Given the description of an element on the screen output the (x, y) to click on. 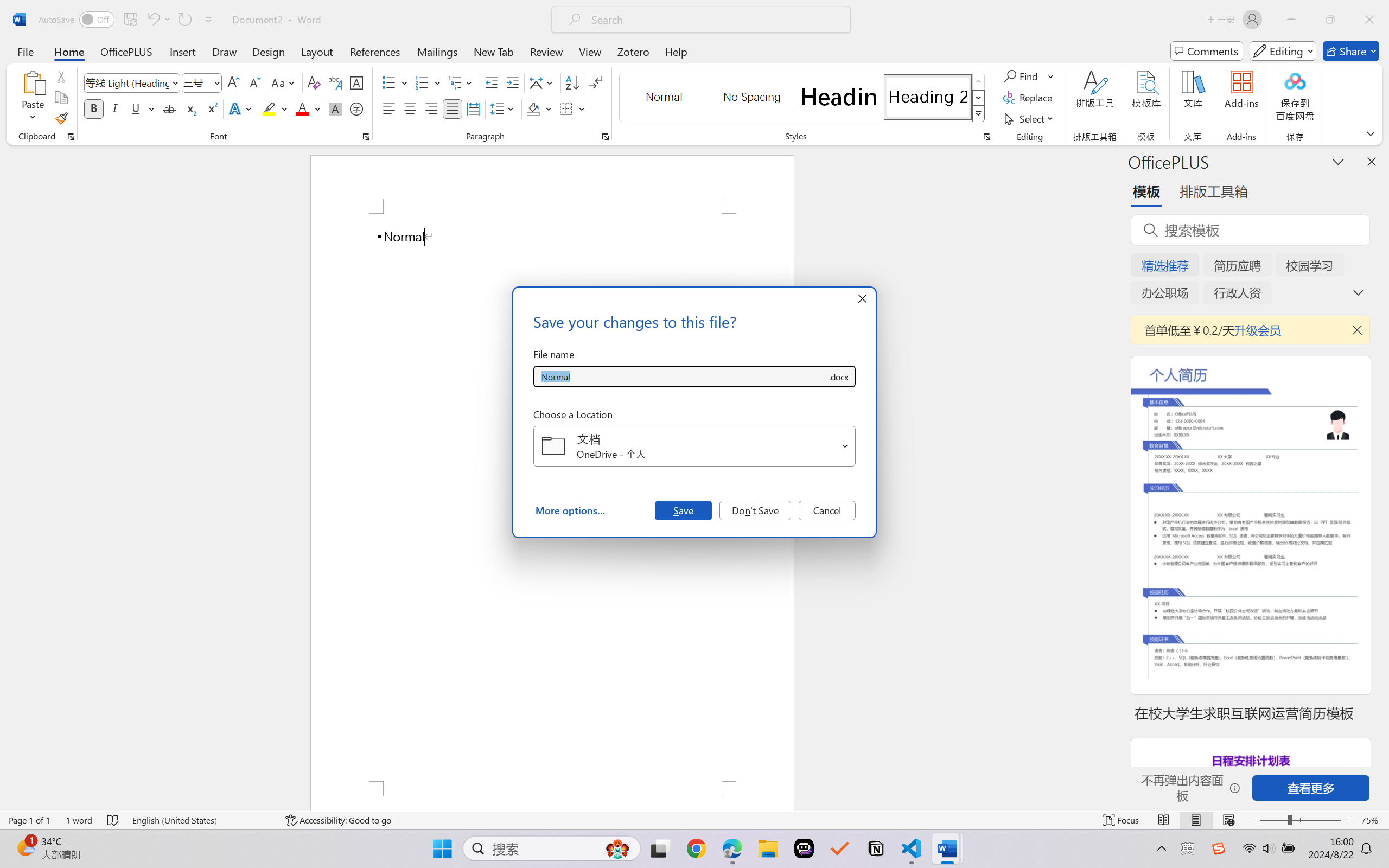
Zotero (632, 51)
Multilevel List (461, 82)
Numbering (421, 82)
Poe (804, 848)
Close (1369, 19)
Center (409, 108)
Quick Access Toolbar (127, 19)
Text Highlight Color (274, 108)
Mailings (437, 51)
Font (126, 82)
Class: NetUIImage (978, 114)
